Given the description of an element on the screen output the (x, y) to click on. 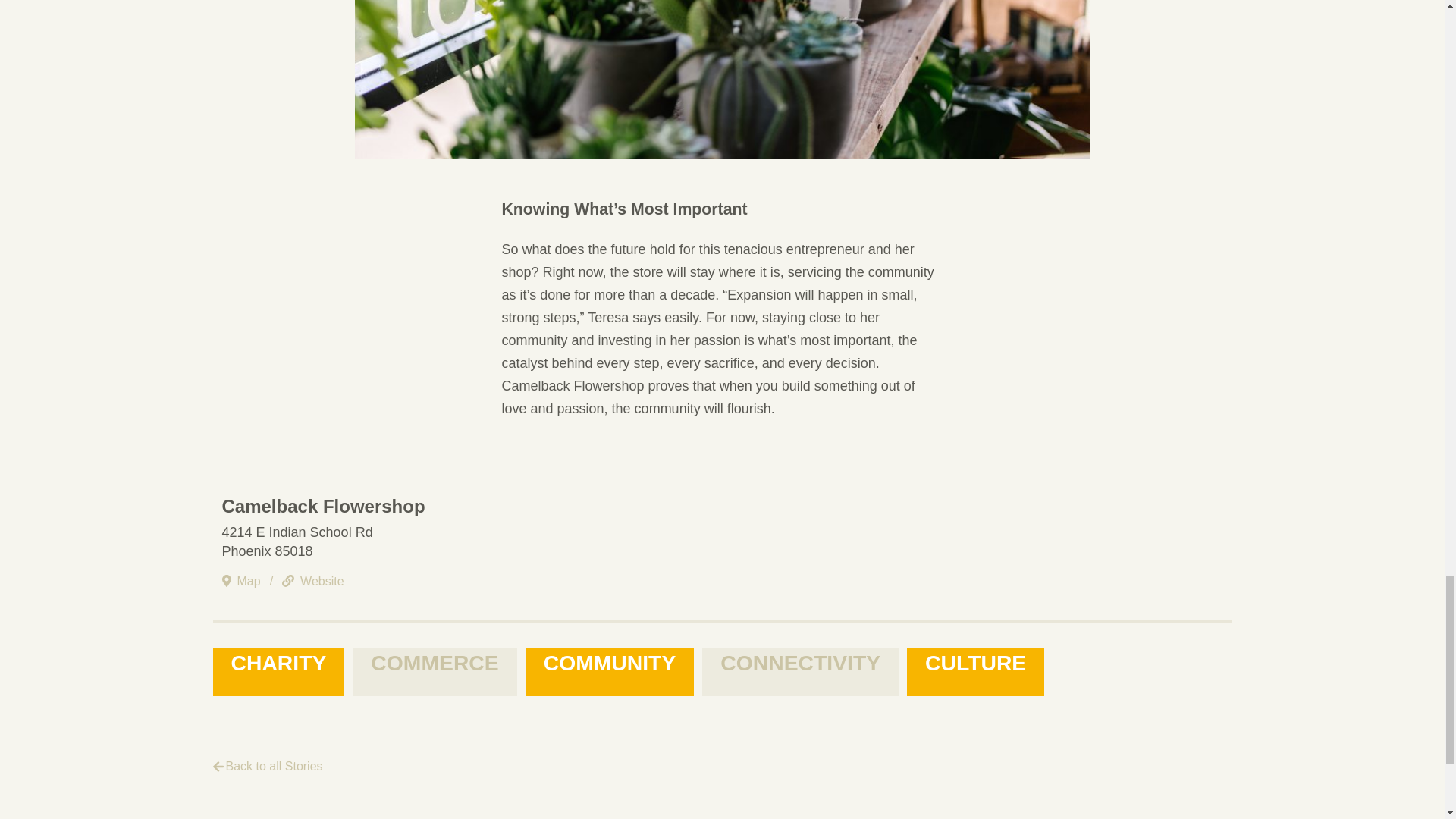
COMMUNITY (609, 671)
COMMERCE (434, 671)
Map (245, 581)
CONNECTIVITY (799, 671)
Website (313, 581)
CHARITY (277, 671)
Back to all Stories (271, 766)
CULTURE (975, 671)
